Given the description of an element on the screen output the (x, y) to click on. 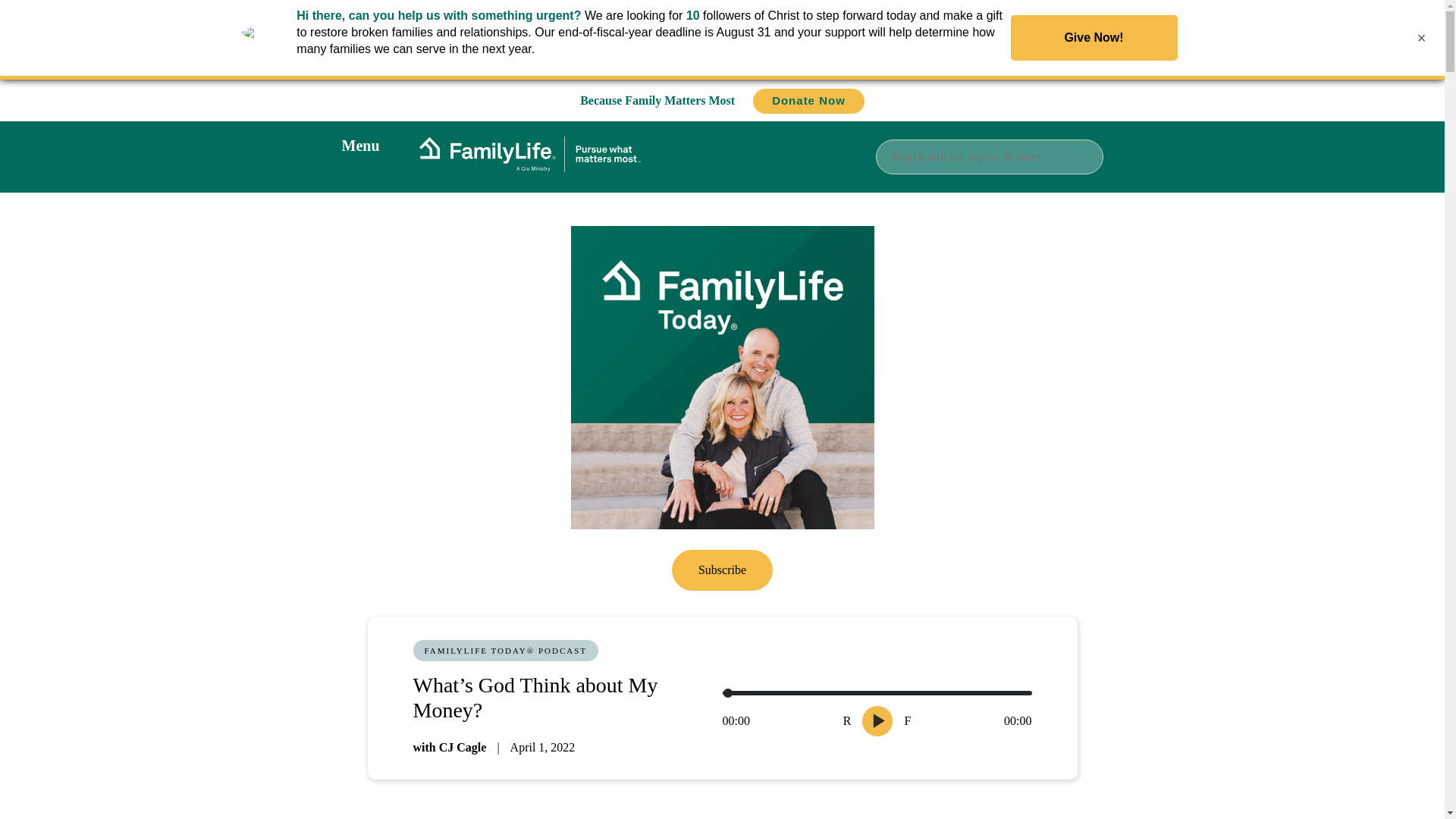
Because Family Matters Most Donate Now (721, 100)
Donate Now (808, 100)
0 (876, 693)
Subscribe (722, 568)
Search for: (988, 156)
Give Now! (1093, 37)
